Given the description of an element on the screen output the (x, y) to click on. 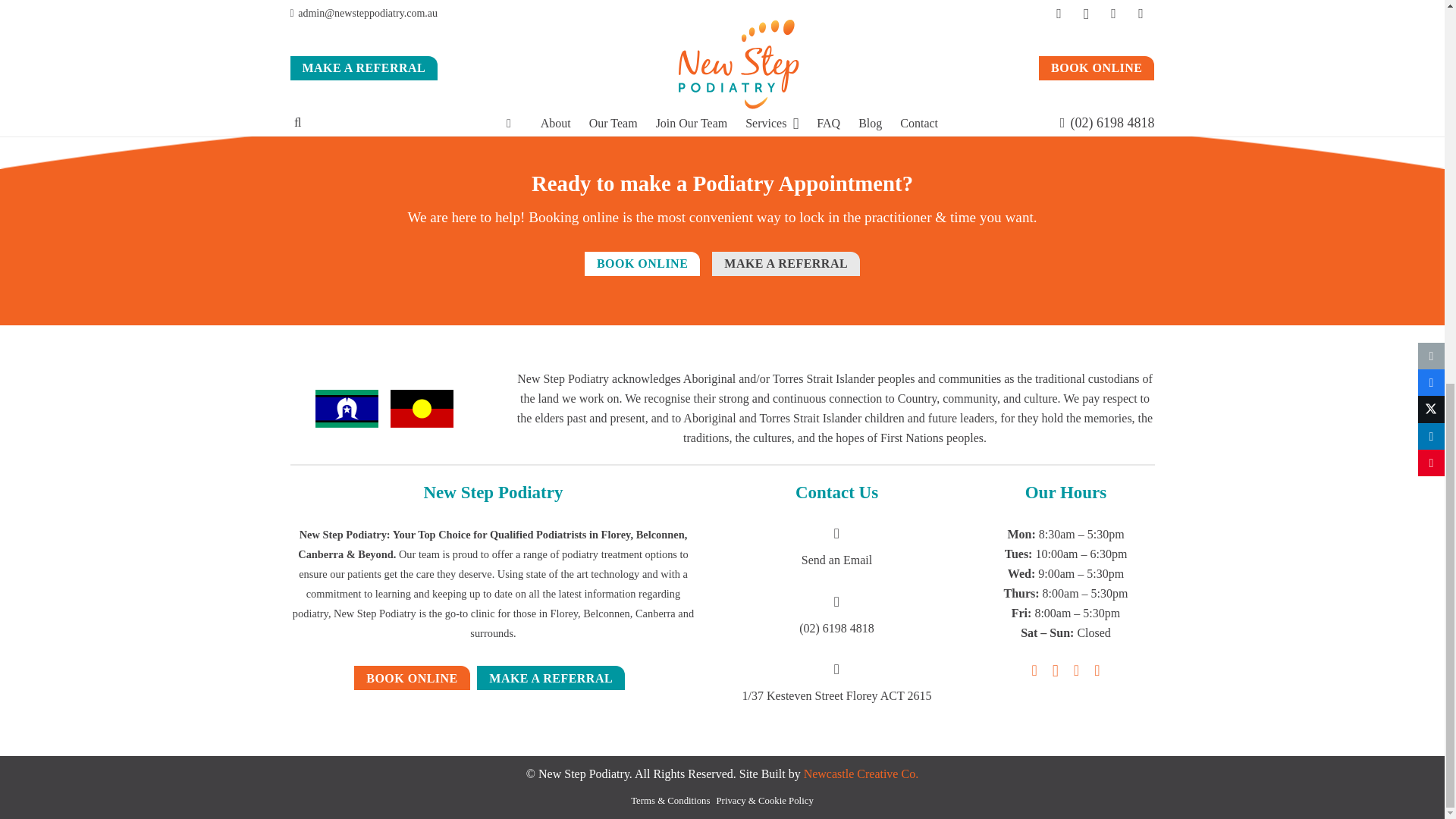
Book Online (642, 263)
Make a Referral (550, 677)
Make a Referral (785, 263)
BOOK ONLINE (642, 263)
MAKE A REFERRAL (785, 263)
Terms and Conditions (410, 677)
